Given the description of an element on the screen output the (x, y) to click on. 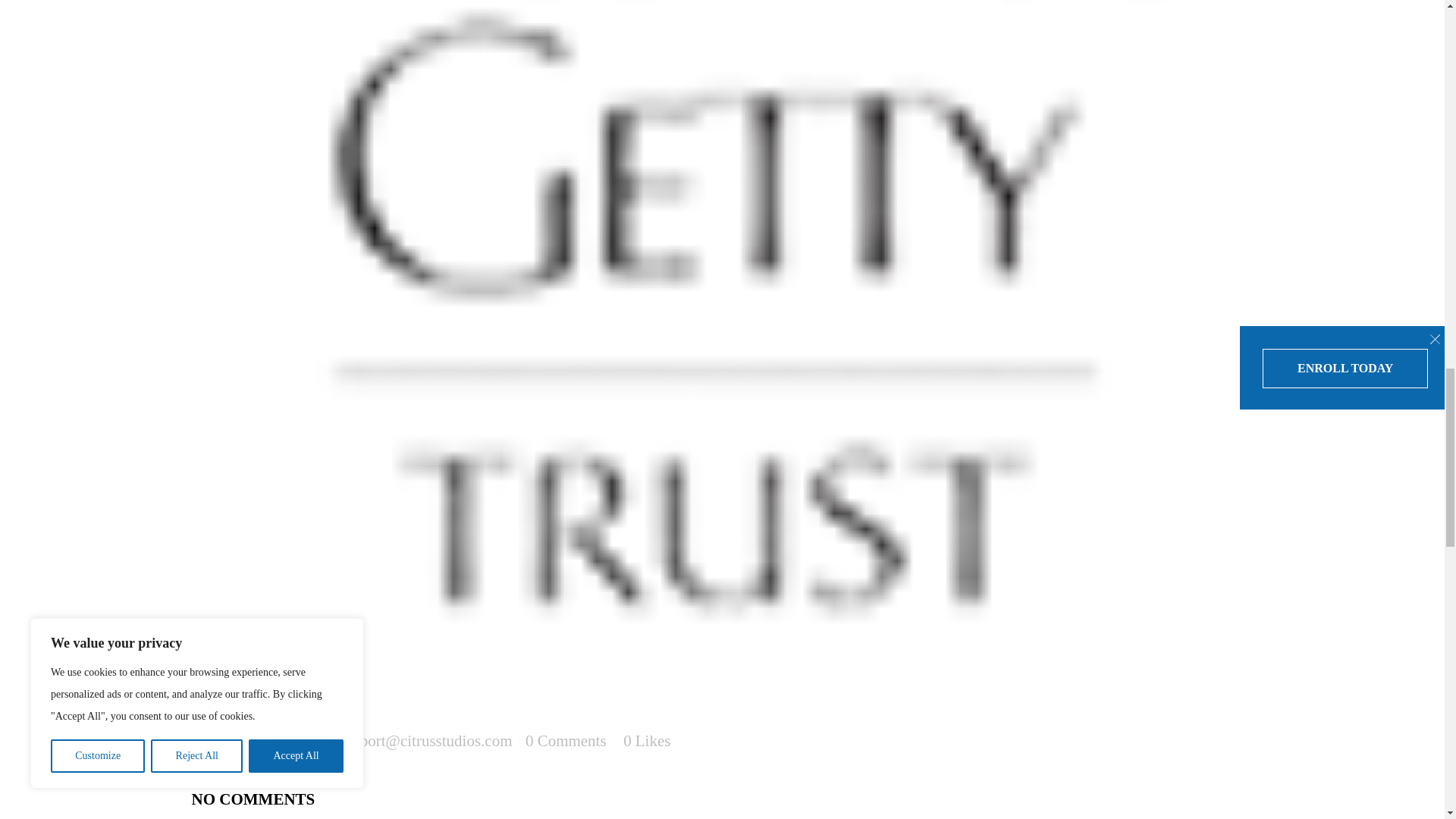
Like this (646, 740)
